Given the description of an element on the screen output the (x, y) to click on. 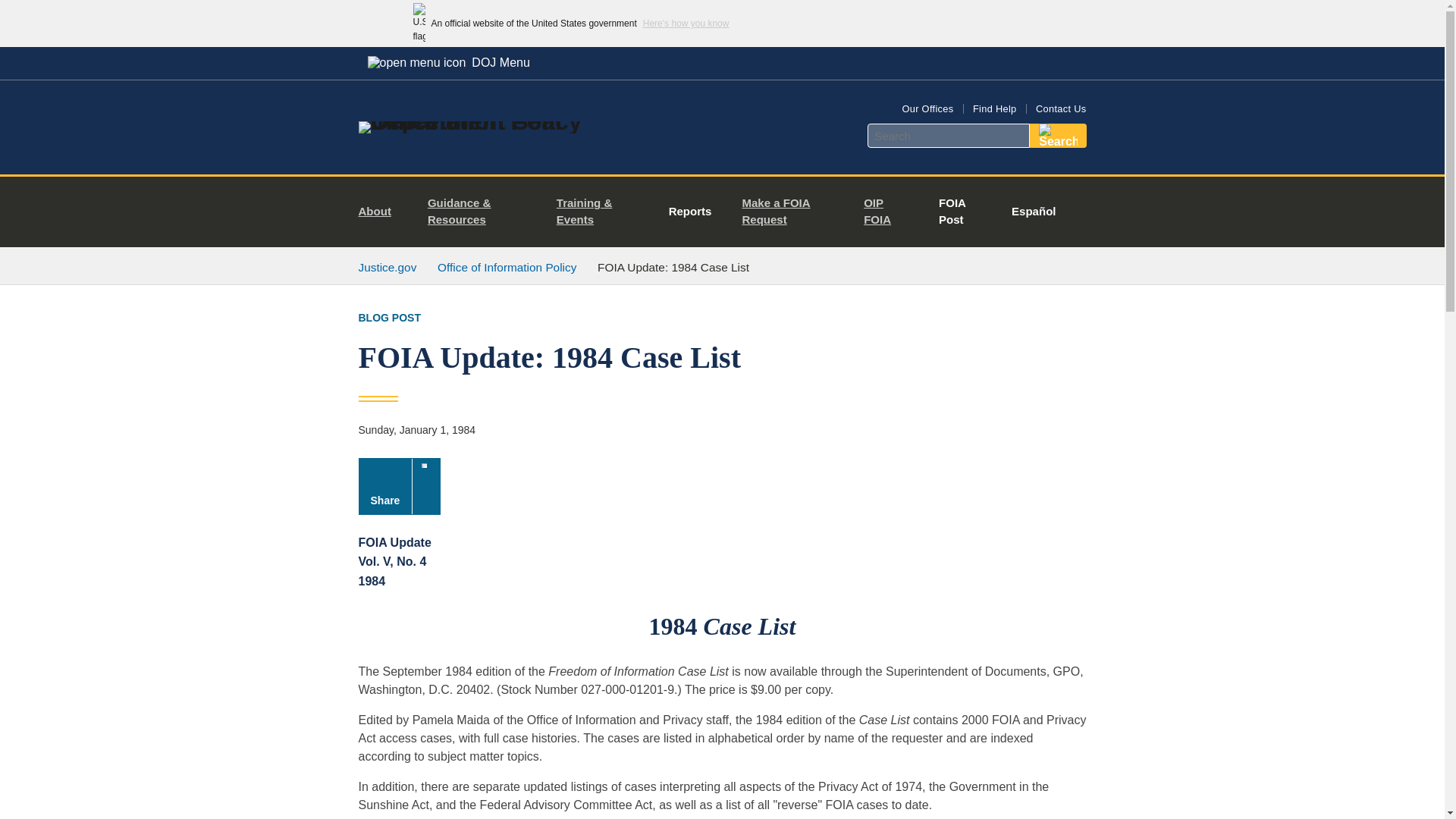
Reports (690, 211)
Make a FOIA Request (790, 211)
Contact Us (1060, 108)
Justice.gov (387, 267)
About (380, 211)
Find Help (994, 108)
Office of Information Policy (507, 267)
FOIA Post (956, 211)
Our Offices (927, 108)
DOJ Menu (448, 62)
